Given the description of an element on the screen output the (x, y) to click on. 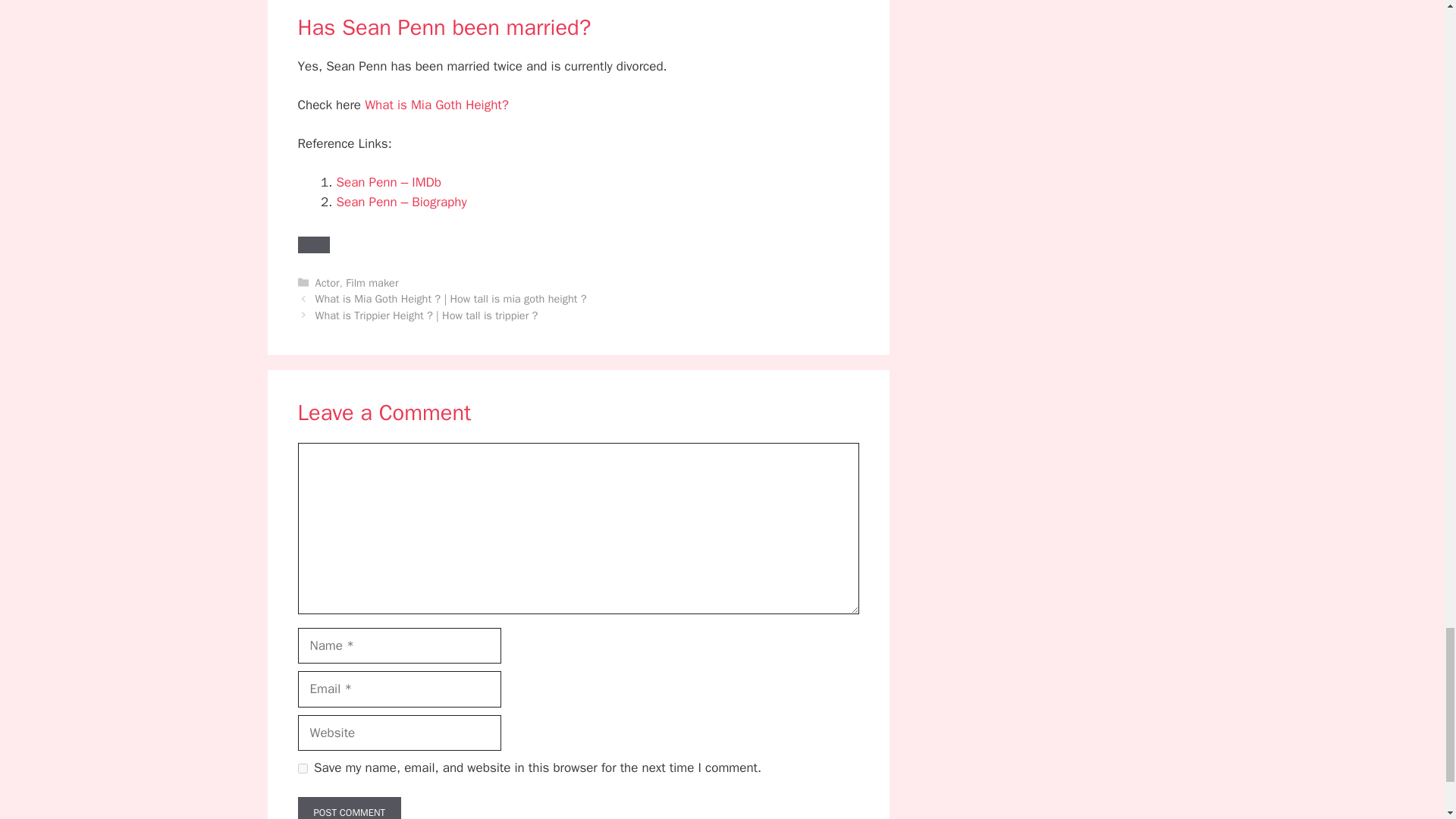
Post Comment (349, 807)
yes (302, 768)
